Given the description of an element on the screen output the (x, y) to click on. 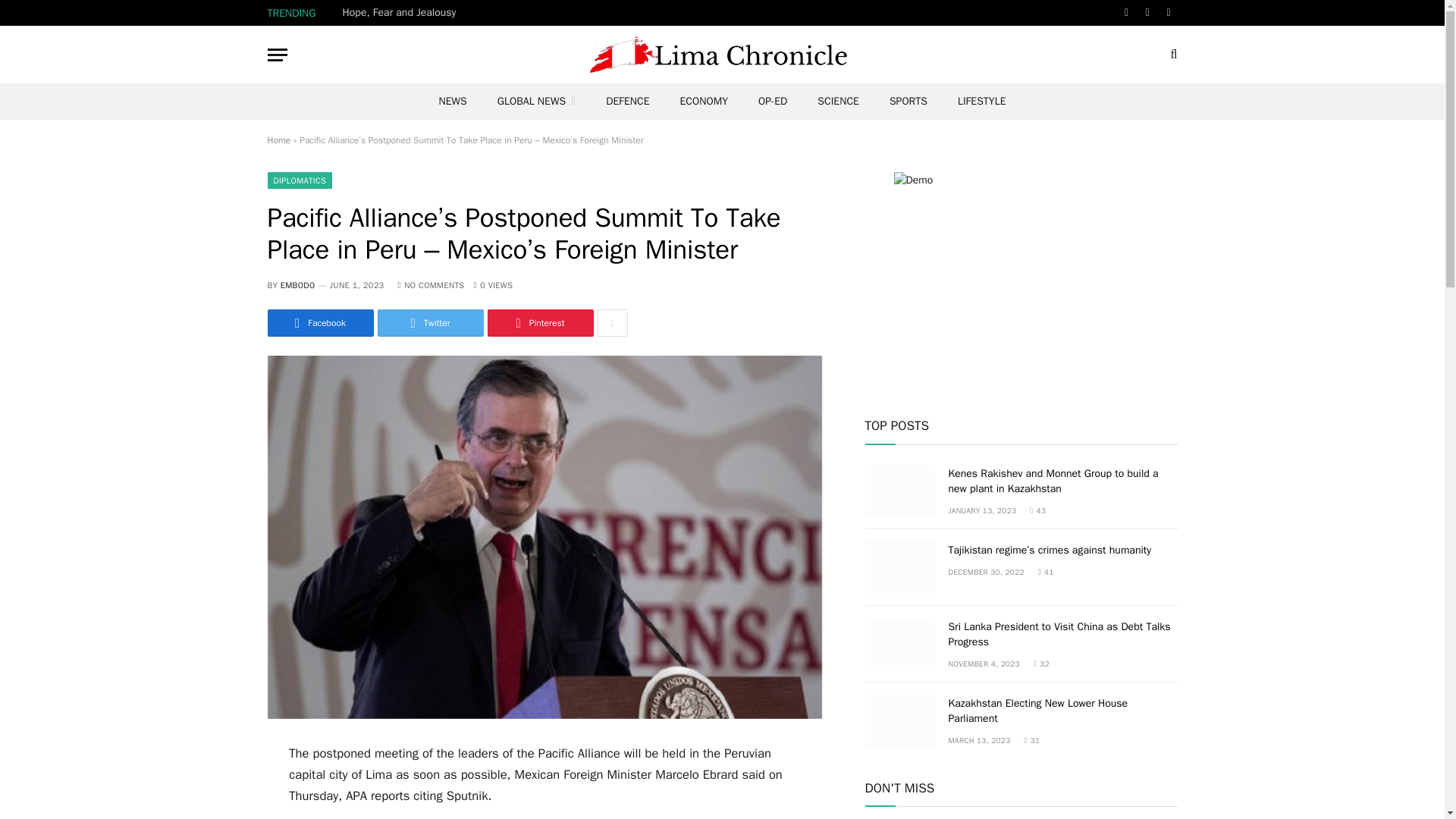
Share on Facebook (319, 322)
Share on Pinterest (539, 322)
Lima Chronicle (722, 54)
Show More Social Sharing (611, 322)
0 Article Views (492, 285)
Posts by Embodo (298, 285)
